Given the description of an element on the screen output the (x, y) to click on. 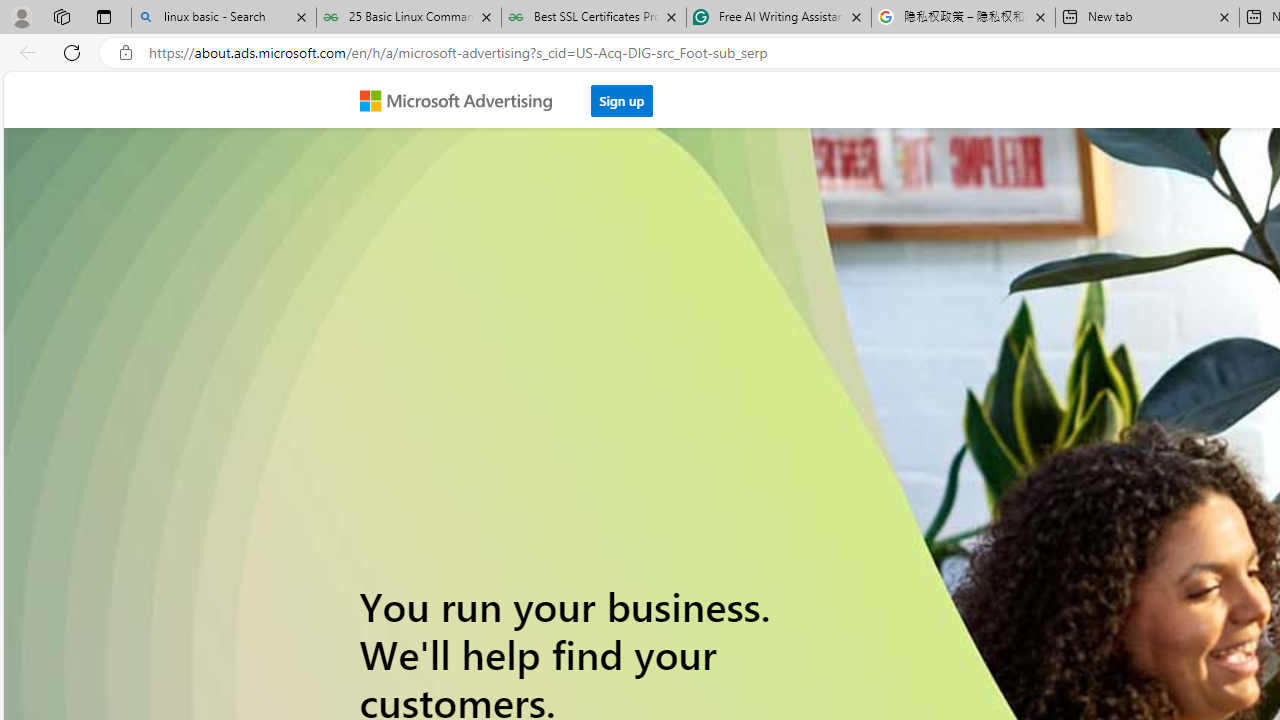
Sign up (621, 95)
linux basic - Search (223, 17)
Sign up (622, 100)
Microsoft Advertising (463, 99)
